Given the description of an element on the screen output the (x, y) to click on. 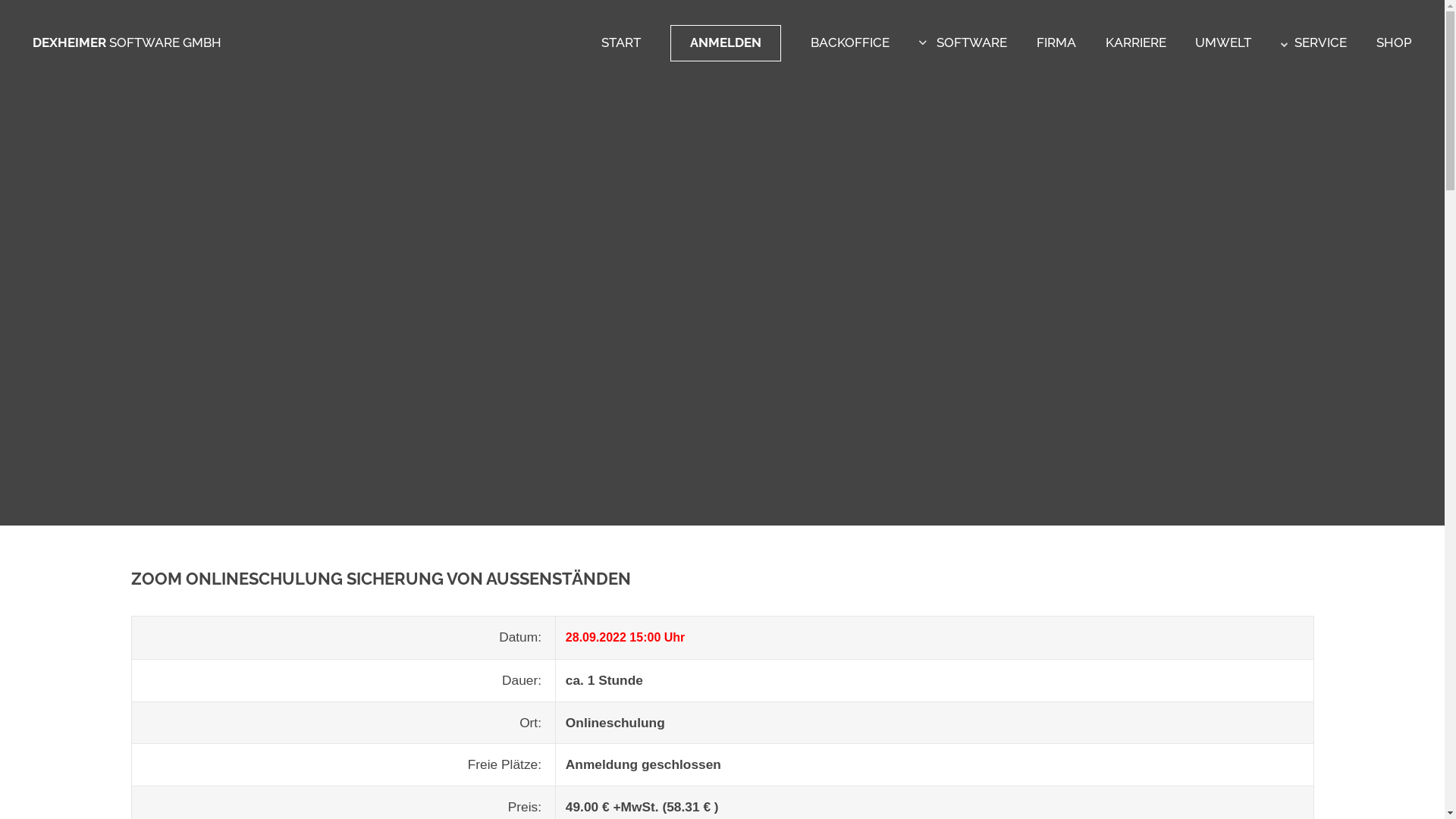
FIRMA Element type: text (1056, 42)
KARRIERE Element type: text (1135, 42)
SOFTWARE Element type: text (962, 42)
SERVICE Element type: text (1313, 42)
BACKOFFICE Element type: text (849, 42)
ANMELDEN Element type: text (725, 43)
SHOP Element type: text (1394, 42)
START Element type: text (620, 42)
DEXHEIMER SOFTWARE GMBH Element type: text (126, 42)
UMWELT Element type: text (1223, 42)
